Given the description of an element on the screen output the (x, y) to click on. 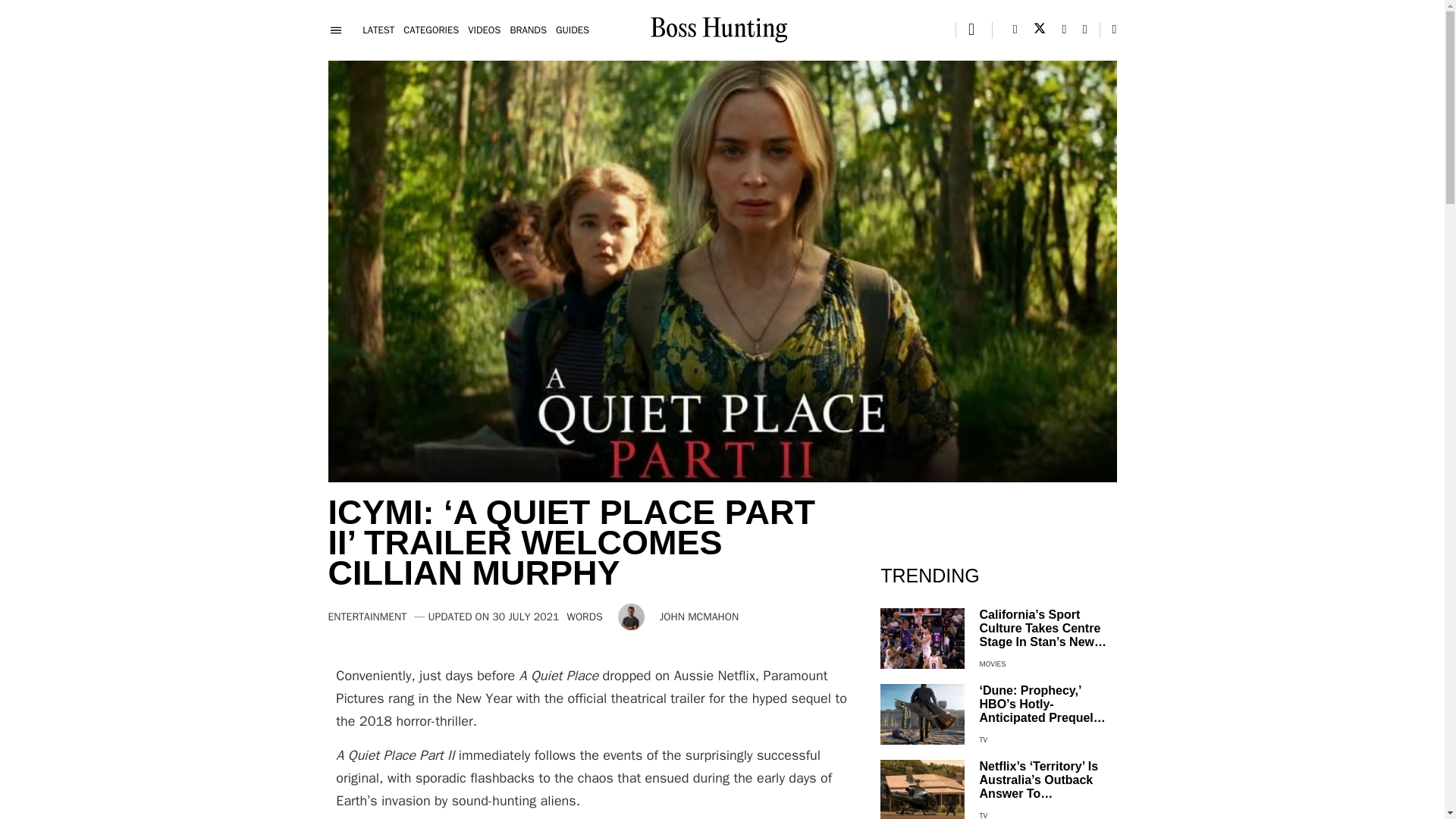
LATEST (378, 30)
CATEGORIES (430, 30)
